Given the description of an element on the screen output the (x, y) to click on. 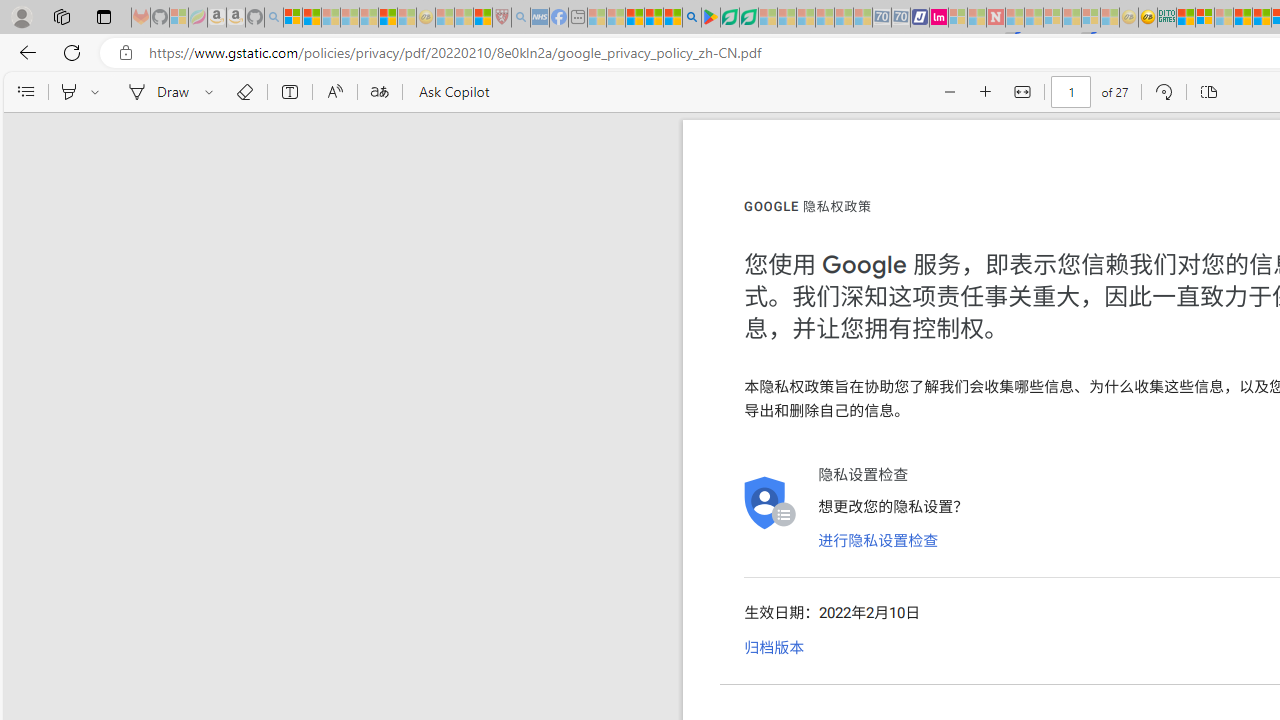
Bluey: Let's Play! - Apps on Google Play (710, 17)
Page view (1208, 92)
Ask Copilot (452, 92)
Fit to width (Ctrl+\) (1021, 92)
Pets - MSN (654, 17)
